Given the description of an element on the screen output the (x, y) to click on. 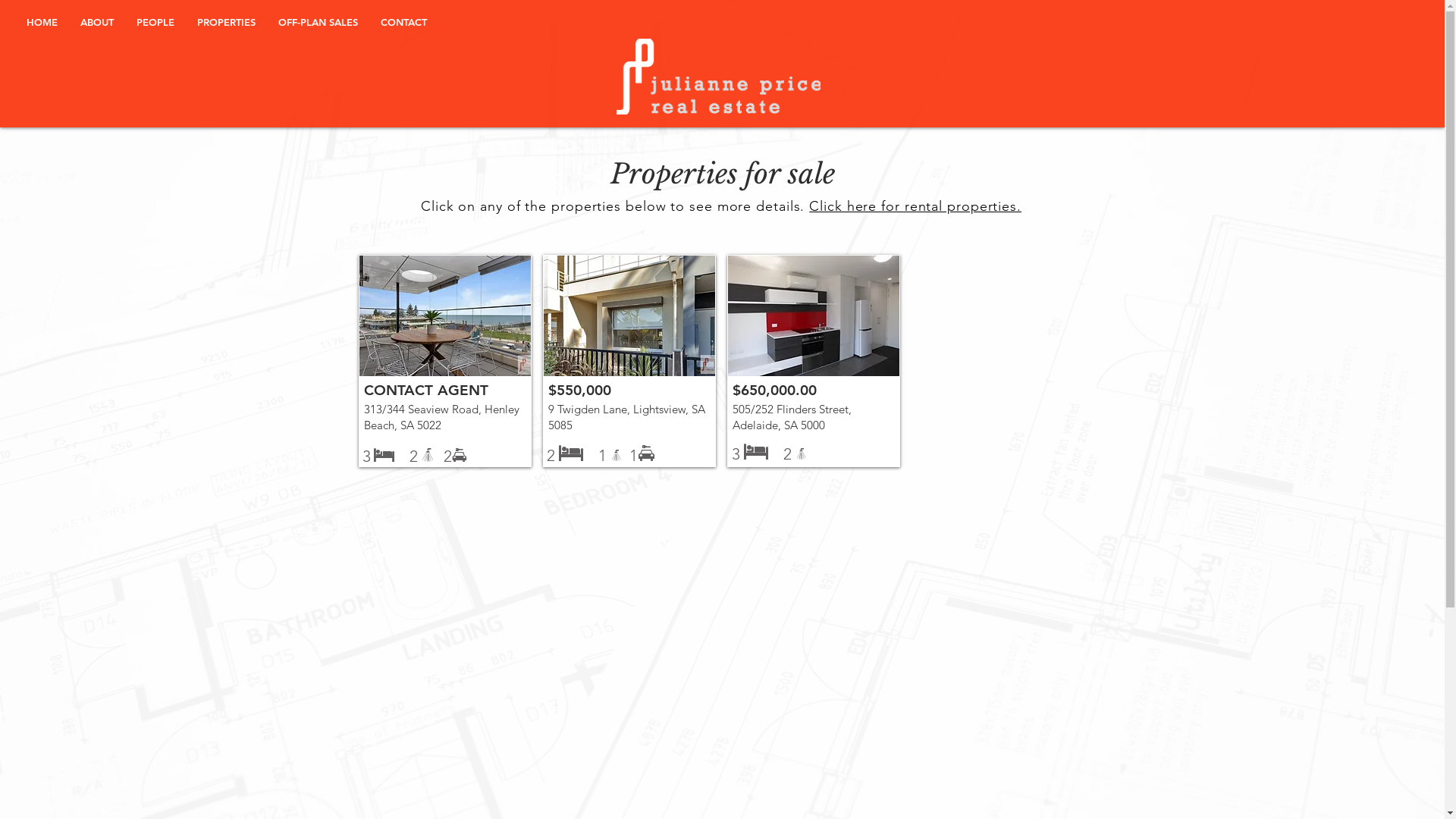
HOME Element type: text (42, 21)
CONTACT AGENT
313/344 Seaview Road, Henley Beach, SA 5022 Element type: text (443, 360)
$650,000.00
505/252 Flinders Street, Adelaide, SA 5000 Element type: text (812, 360)
CONTACT Element type: text (403, 21)
OFF-PLAN SALES Element type: text (317, 21)
$550,000
9 Twigden Lane, Lightsview, SA 5085 Element type: text (628, 360)
Click here for rental properties. Element type: text (915, 205)
ABOUT Element type: text (97, 21)
PEOPLE Element type: text (155, 21)
